Given the description of an element on the screen output the (x, y) to click on. 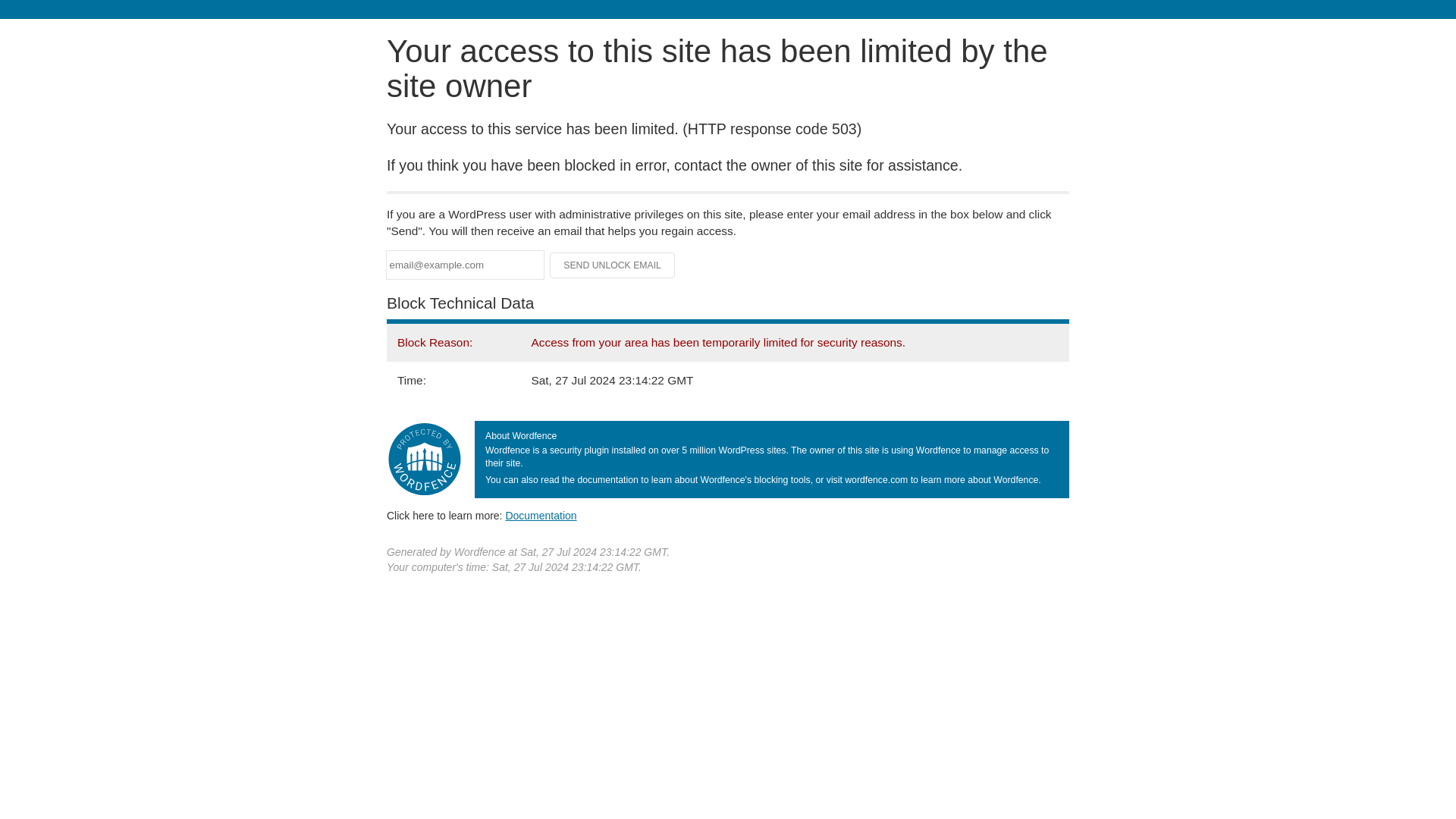
Send Unlock Email (612, 265)
Send Unlock Email (612, 265)
Documentation (540, 515)
